Given the description of an element on the screen output the (x, y) to click on. 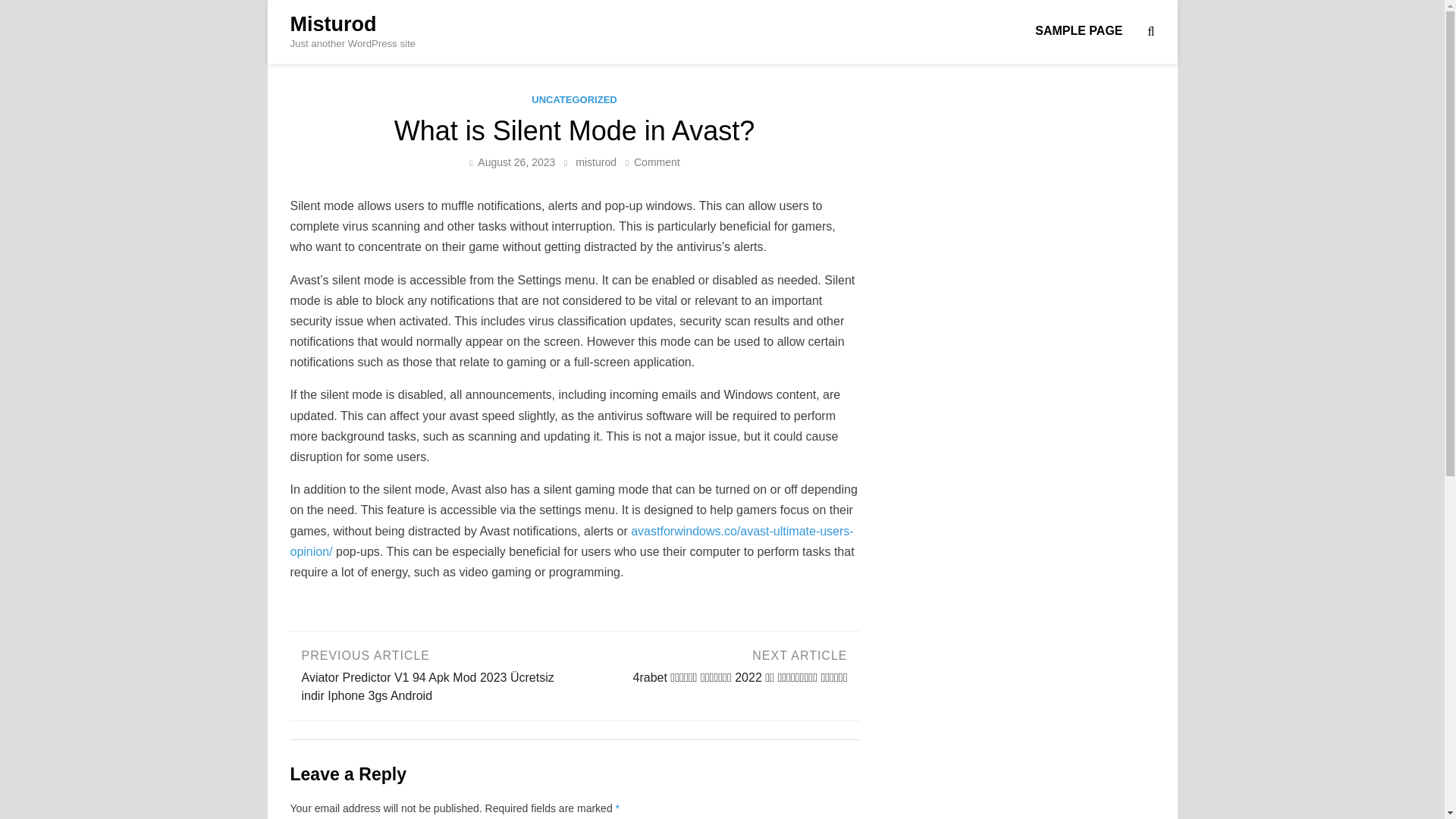
UNCATEGORIZED (573, 99)
misturod (656, 162)
SAMPLE PAGE (595, 162)
August 26, 2023 (1078, 30)
Misturod (515, 162)
